Given the description of an element on the screen output the (x, y) to click on. 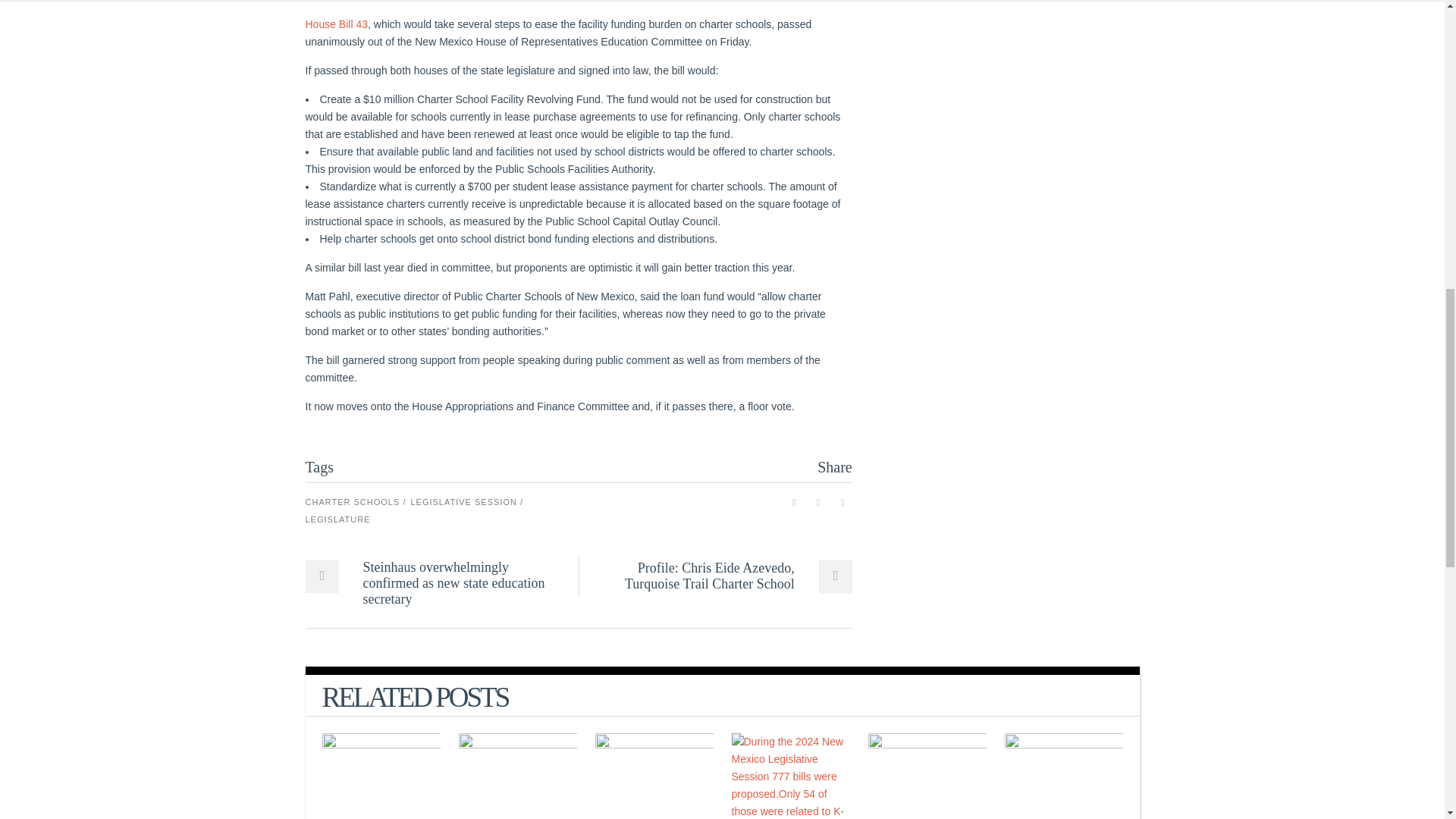
House Bill 43 (336, 24)
CHARTER SCHOOLS (355, 502)
Profile: Chris Eide Azevedo, Turquoise Trail Charter School (721, 575)
LEGISLATIVE SESSION (466, 502)
LEGISLATURE (336, 519)
